Given the description of an element on the screen output the (x, y) to click on. 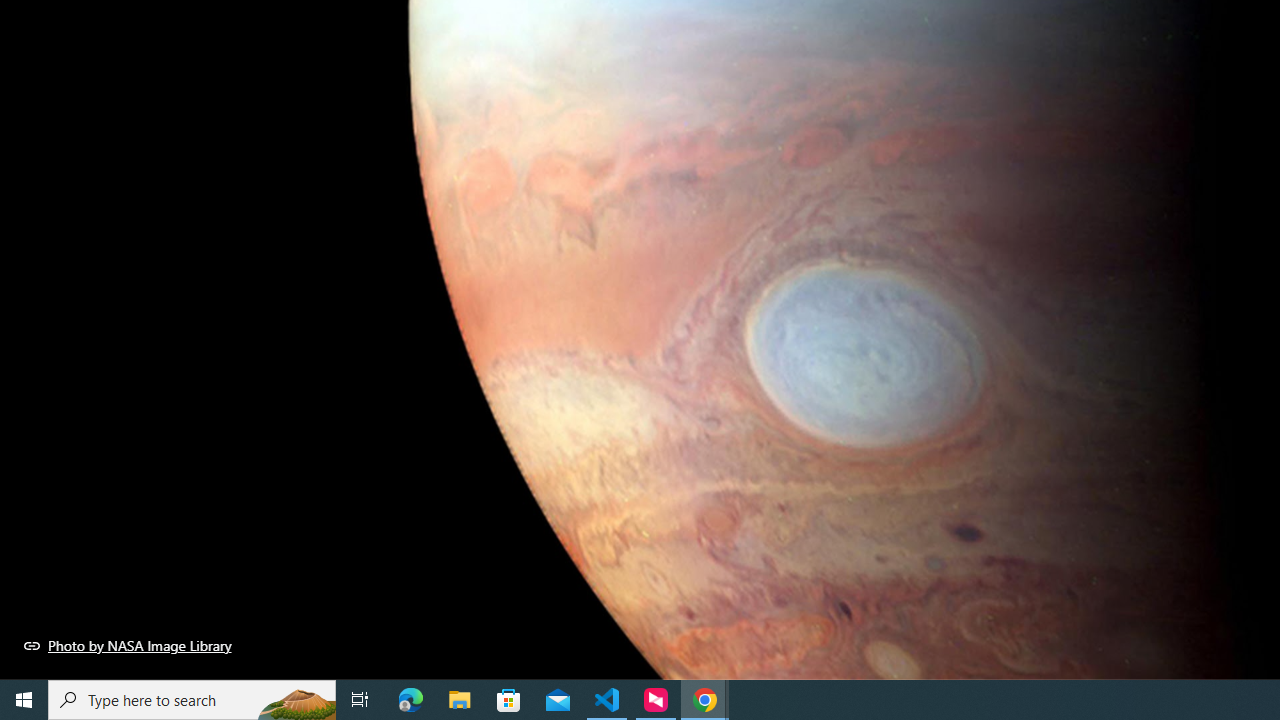
Photo by NASA Image Library (127, 645)
